Given the description of an element on the screen output the (x, y) to click on. 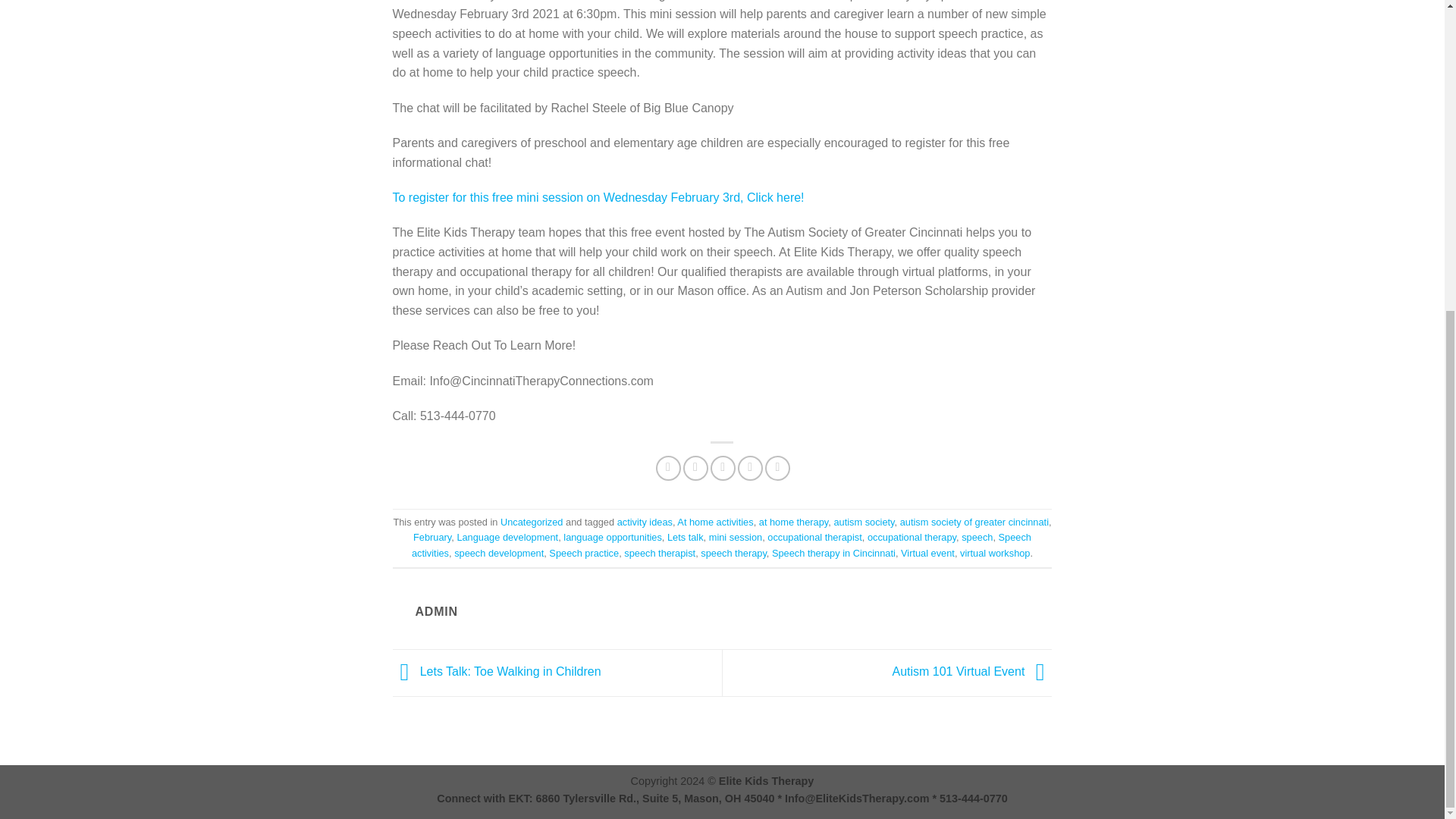
At home activities (714, 521)
Lets talk (684, 536)
language opportunities (612, 536)
autism society (862, 521)
autism society of greater cincinnati (973, 521)
February (432, 536)
Share on Twitter (694, 467)
activity ideas (644, 521)
Share on Facebook (668, 467)
at home therapy (793, 521)
